Given the description of an element on the screen output the (x, y) to click on. 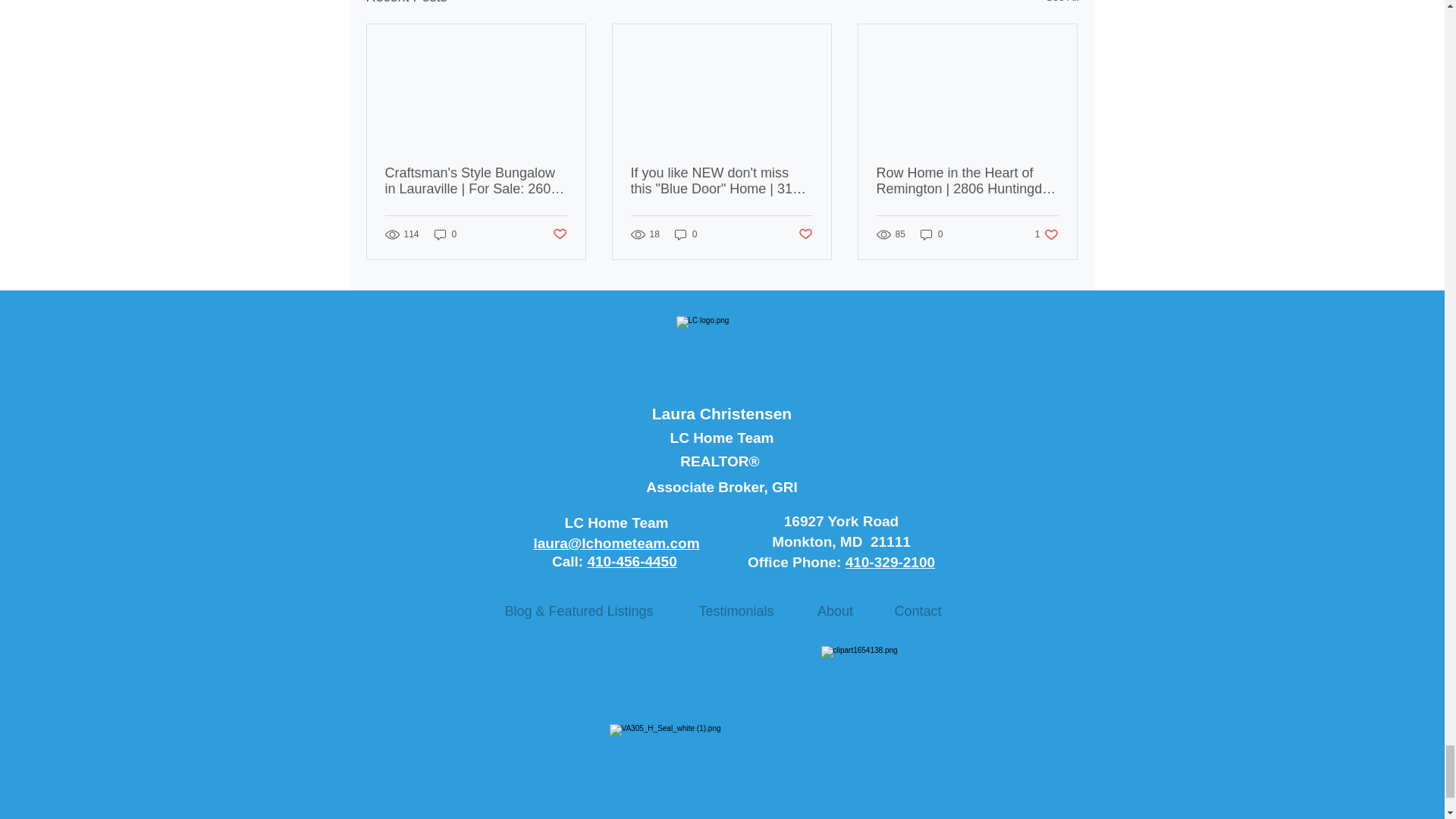
0 (685, 234)
Post not marked as liked (558, 234)
See All (1061, 4)
Post not marked as liked (804, 234)
0 (445, 234)
